Given the description of an element on the screen output the (x, y) to click on. 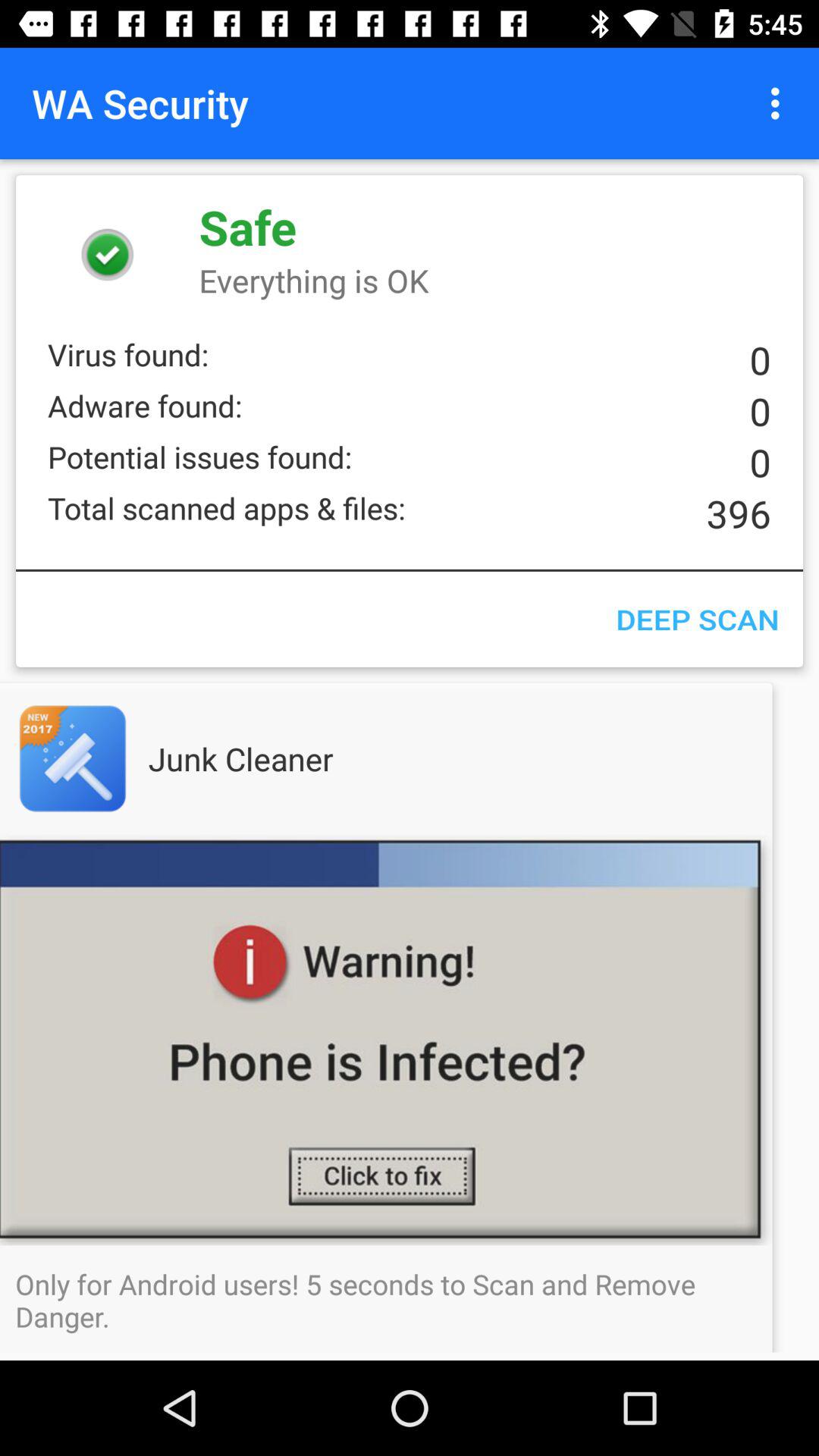
press only for android item (409, 1300)
